Given the description of an element on the screen output the (x, y) to click on. 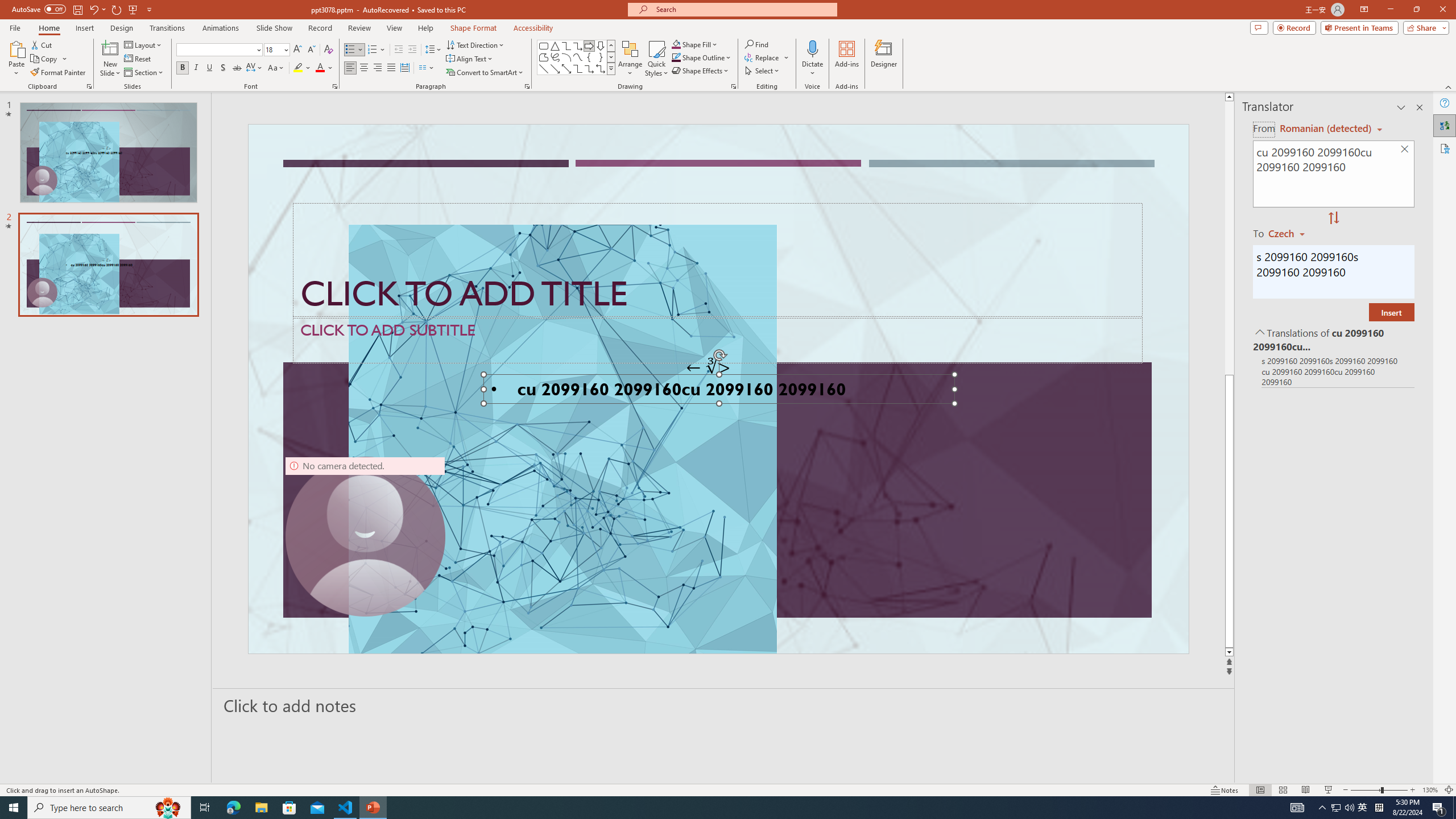
Connector: Elbow Double-Arrow (600, 68)
